Given the description of an element on the screen output the (x, y) to click on. 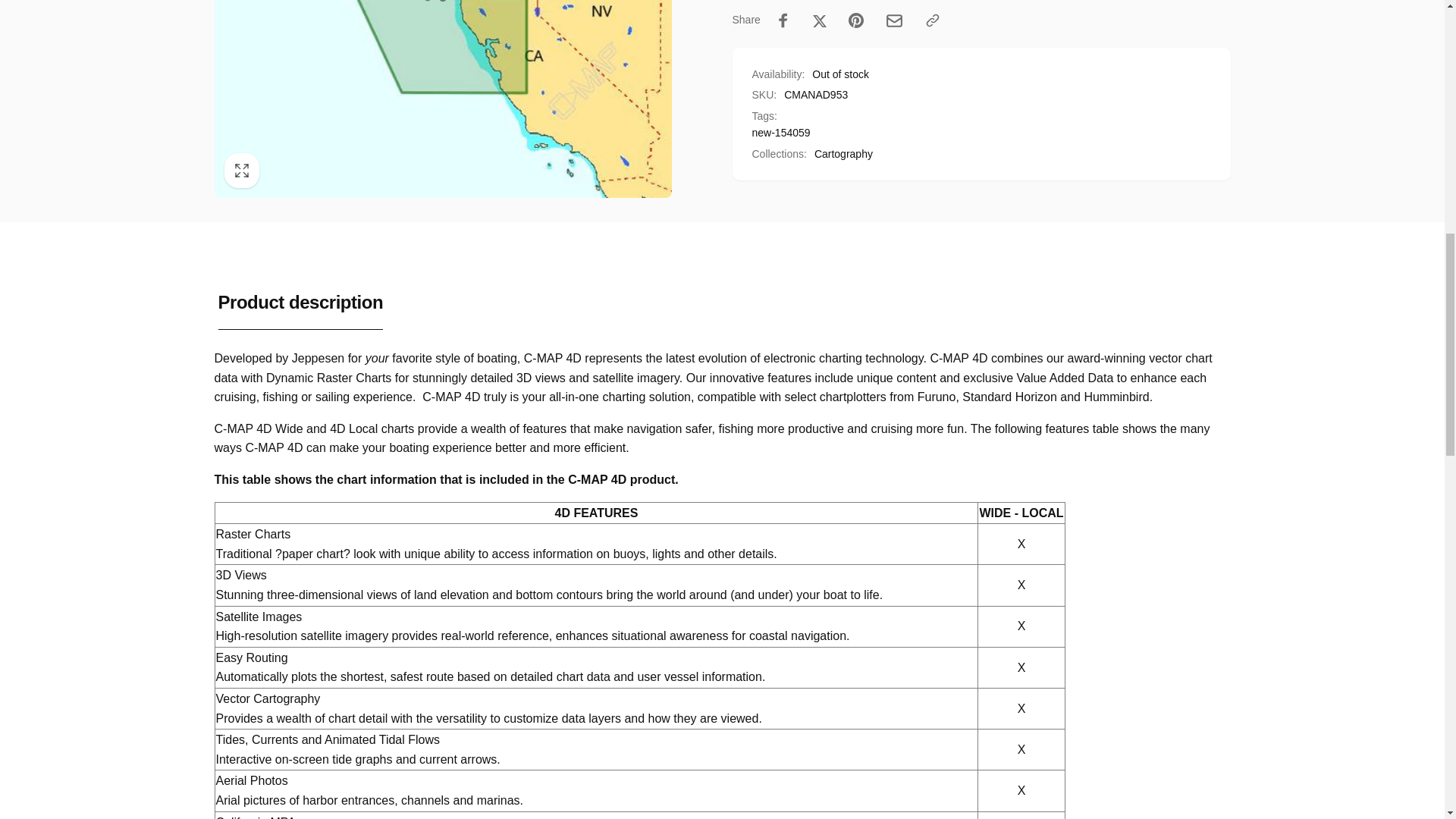
Cartography (842, 153)
